Given the description of an element on the screen output the (x, y) to click on. 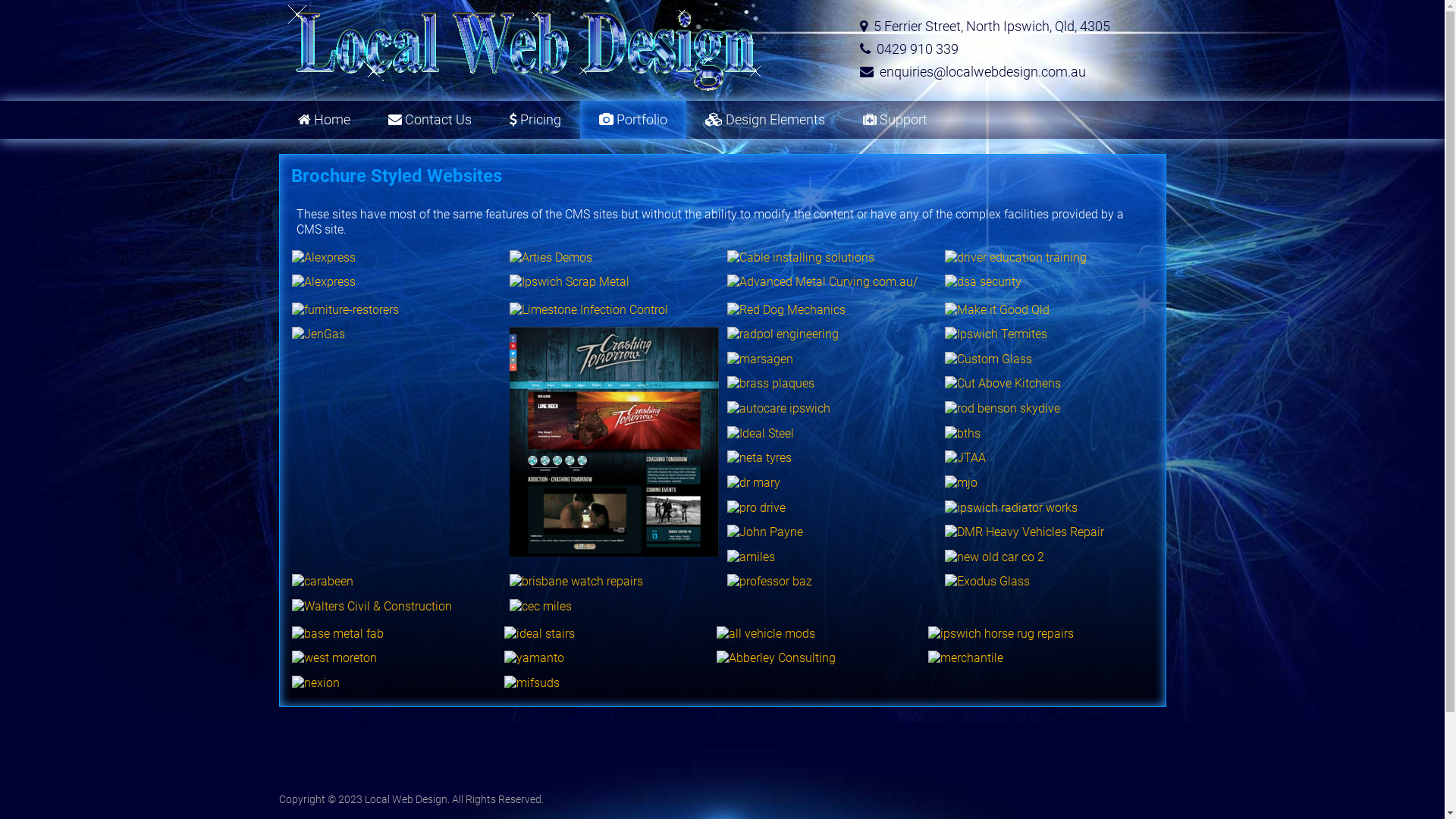
Contact Us Element type: text (428, 119)
Portfolio Element type: text (632, 119)
Local Web Design Ipswich Element type: hover (527, 48)
0429 910 339 Element type: text (917, 48)
Design Elements Element type: text (764, 119)
5 Ferrier Street, North Ipswich, Qld, 4305 Element type: text (991, 26)
Home Element type: text (324, 119)
Support Element type: text (894, 119)
enquiries@localwebdesign.com.au Element type: text (982, 71)
Pricing Element type: text (534, 119)
